Given the description of an element on the screen output the (x, y) to click on. 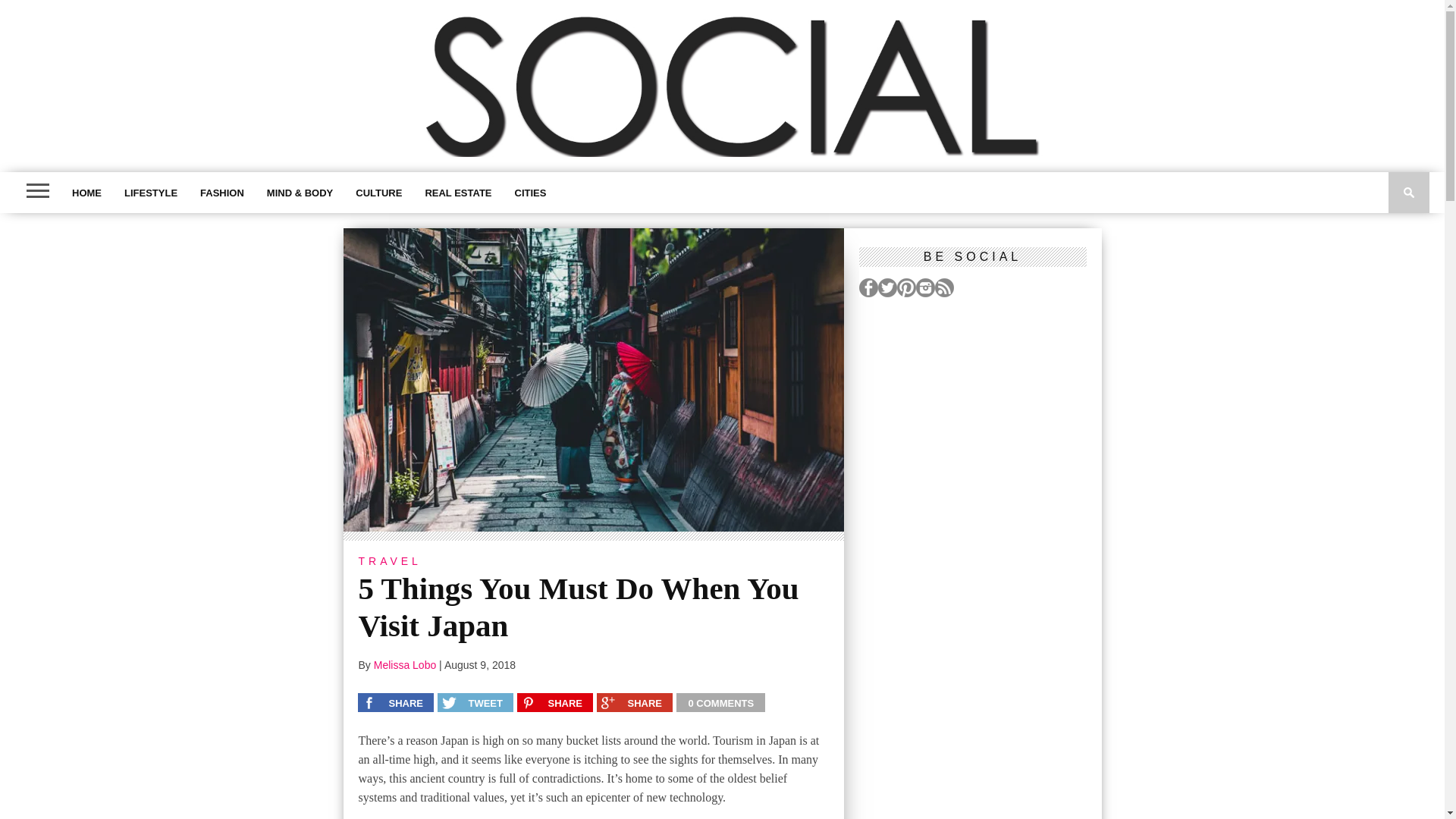
Posts by Melissa Lobo (405, 664)
